Given the description of an element on the screen output the (x, y) to click on. 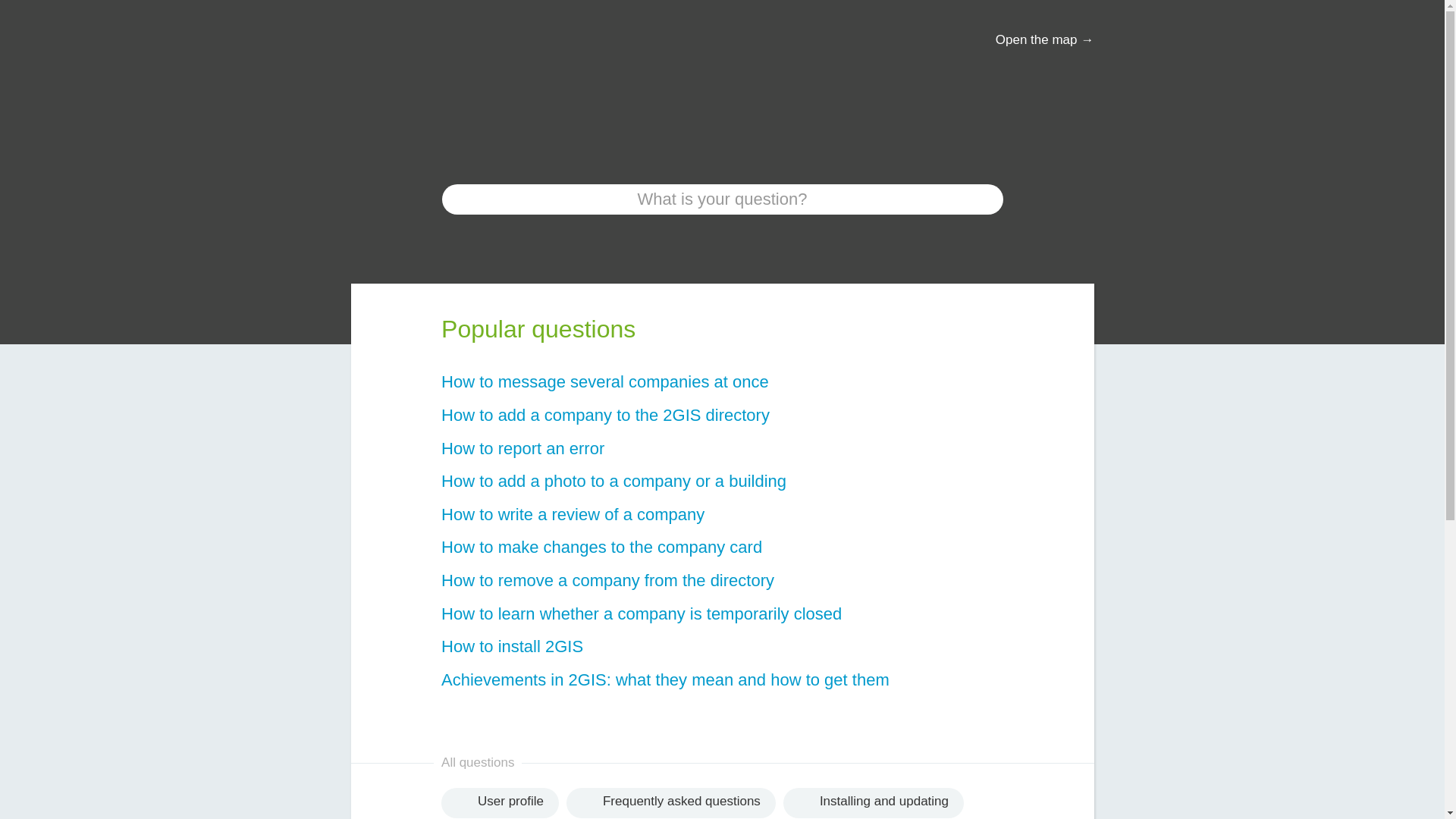
How to add a company to the 2GIS directory Element type: text (722, 415)
How to write a review of a company Element type: text (722, 515)
Open the map Element type: text (1044, 40)
How to remove a company from the directory Element type: text (722, 581)
How to message several companies at once Element type: text (722, 382)
How to learn whether a company is temporarily closed Element type: text (722, 614)
How to add a photo to a company or a building Element type: text (722, 481)
Achievements in 2GIS: what they mean and how to get them Element type: text (722, 680)
How to make changes to the company card Element type: text (722, 547)
How to report an error Element type: text (722, 449)
How to install 2GIS Element type: text (722, 647)
